Given the description of an element on the screen output the (x, y) to click on. 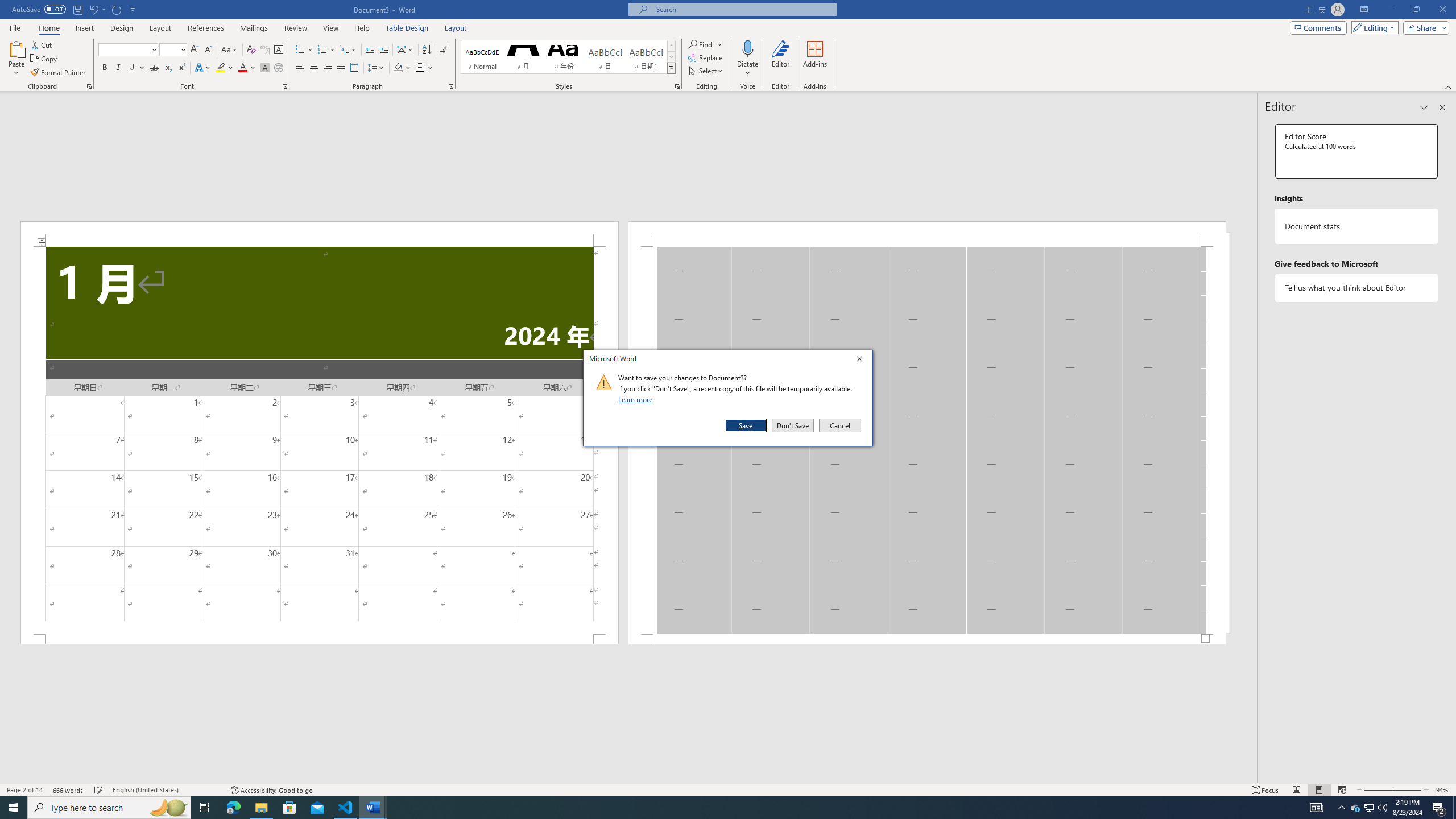
Language English (United States) (165, 790)
Customize Quick Access Toolbar (133, 9)
Underline (136, 67)
Shrink Font (208, 49)
Show/Hide Editing Marks (444, 49)
Styles (670, 67)
Row Down (670, 56)
Grow Font (193, 49)
More Options (747, 68)
Find (700, 44)
Decrease Indent (370, 49)
Print Layout (1318, 790)
